Given the description of an element on the screen output the (x, y) to click on. 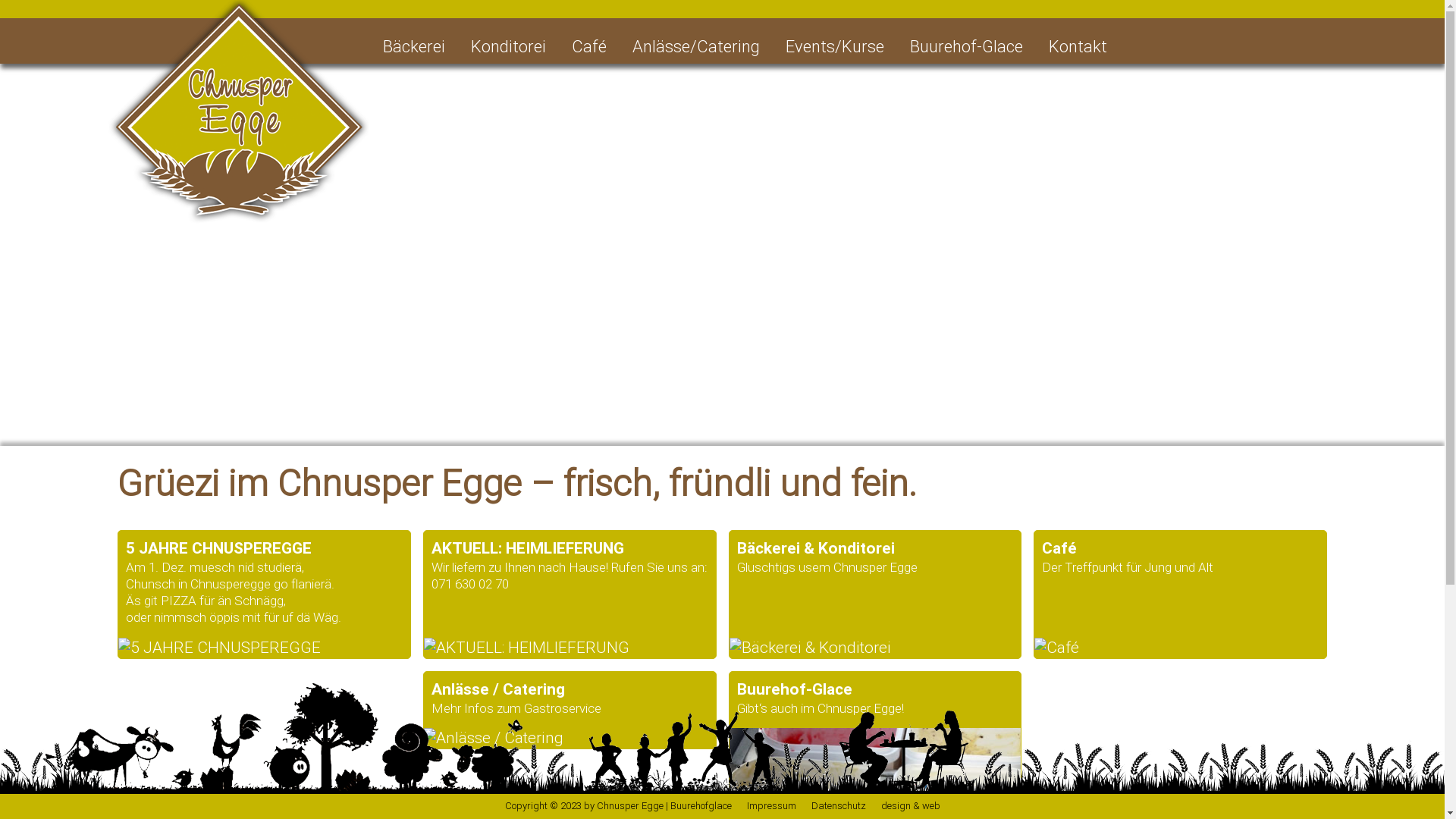
Kontakt Element type: text (1077, 46)
Events/Kurse Element type: text (834, 46)
Buurehof-Glace Element type: text (966, 46)
Datenschutz Element type: text (838, 805)
Impressum Element type: text (770, 805)
Chnusper Egge | Buurehofglace Element type: text (663, 805)
Konditorei Element type: text (508, 46)
design & web Element type: text (910, 805)
